Given the description of an element on the screen output the (x, y) to click on. 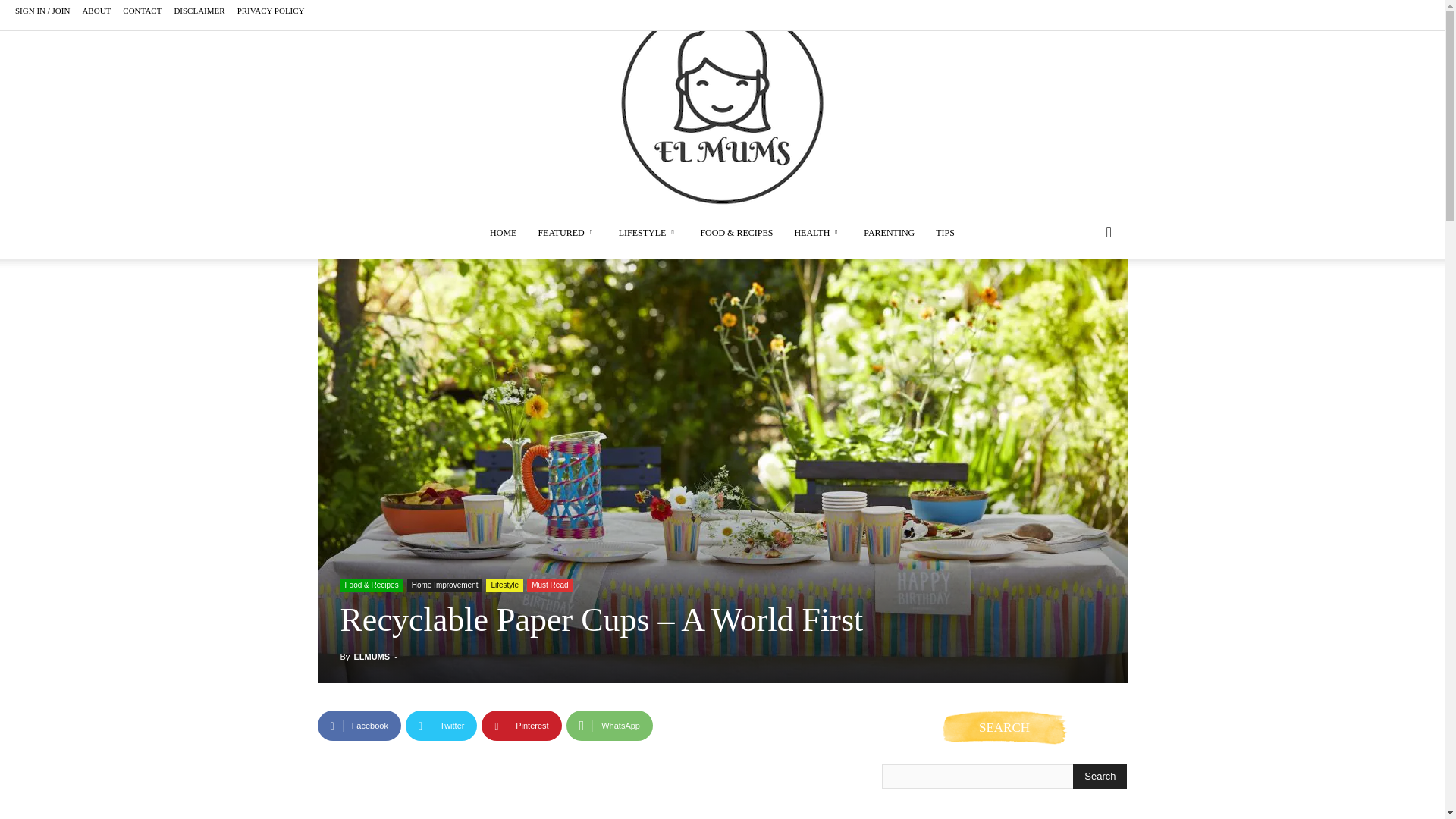
DISCLAIMER (198, 10)
Search (1099, 776)
CONTACT (141, 10)
ABOUT (95, 10)
